Given the description of an element on the screen output the (x, y) to click on. 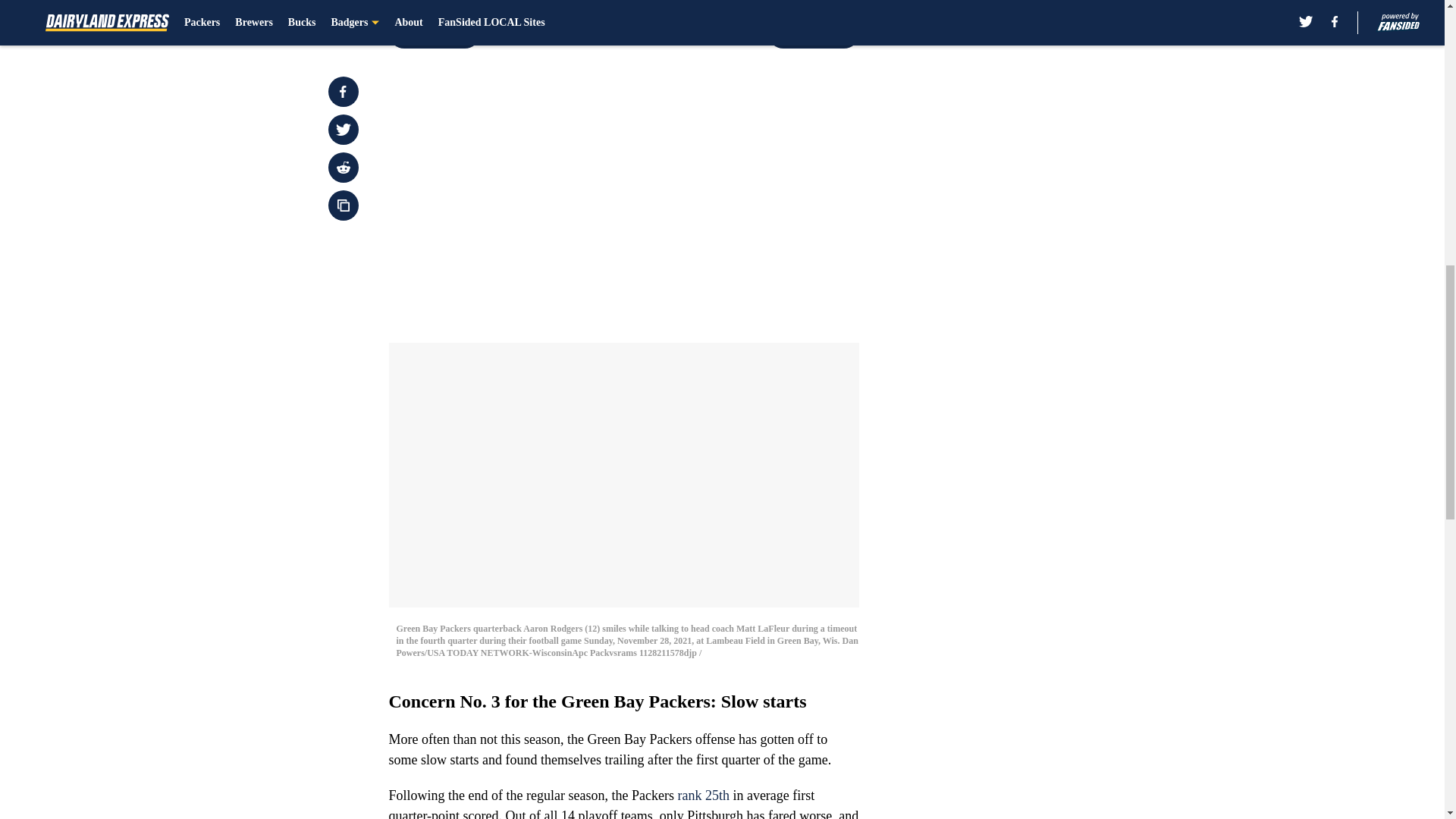
Next (813, 33)
Prev (433, 33)
rank 25th (703, 795)
